Given the description of an element on the screen output the (x, y) to click on. 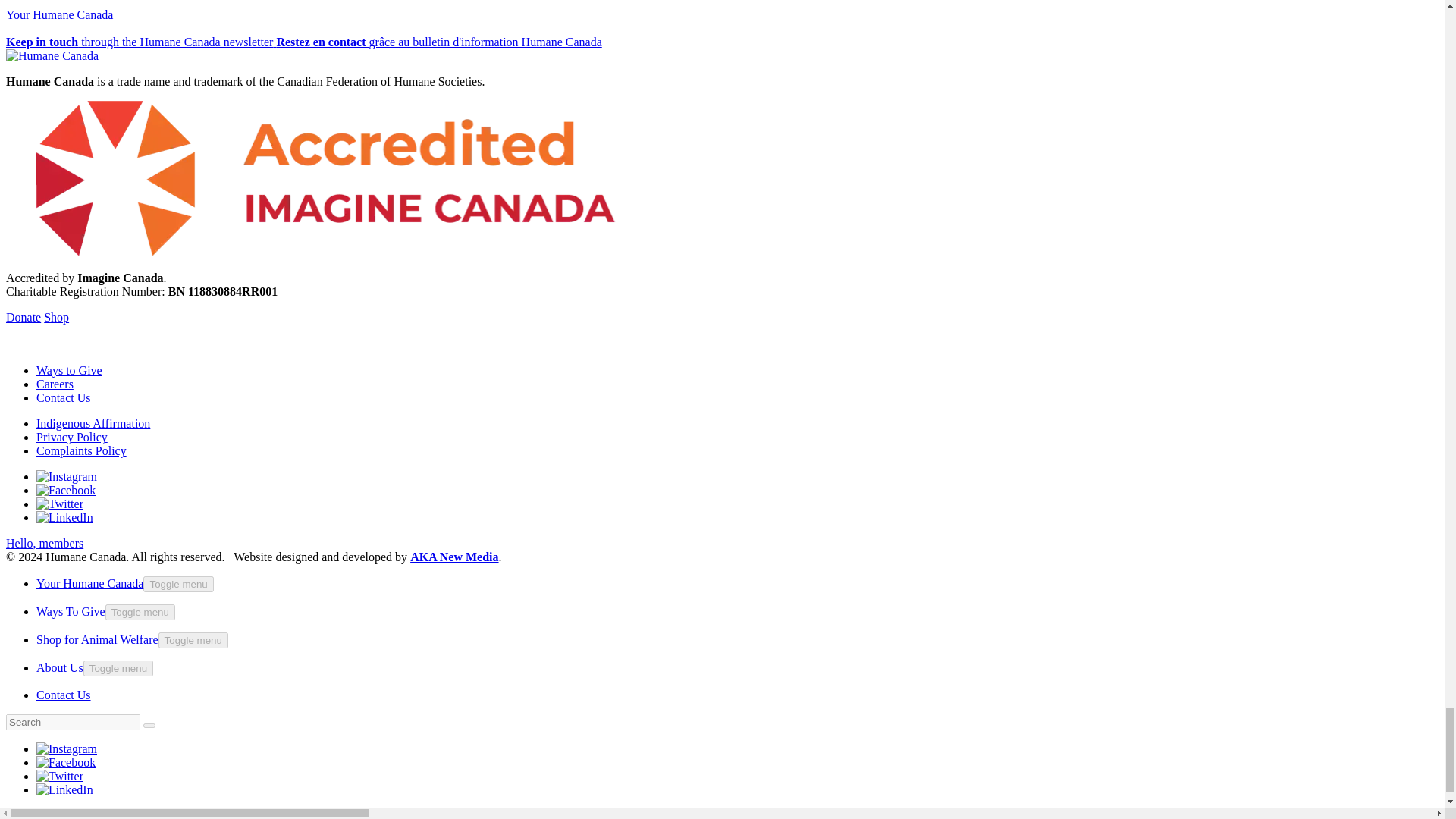
Toggle menu (193, 640)
Toggle menu (139, 611)
Toggle menu (117, 668)
Toggle menu (177, 584)
